Given the description of an element on the screen output the (x, y) to click on. 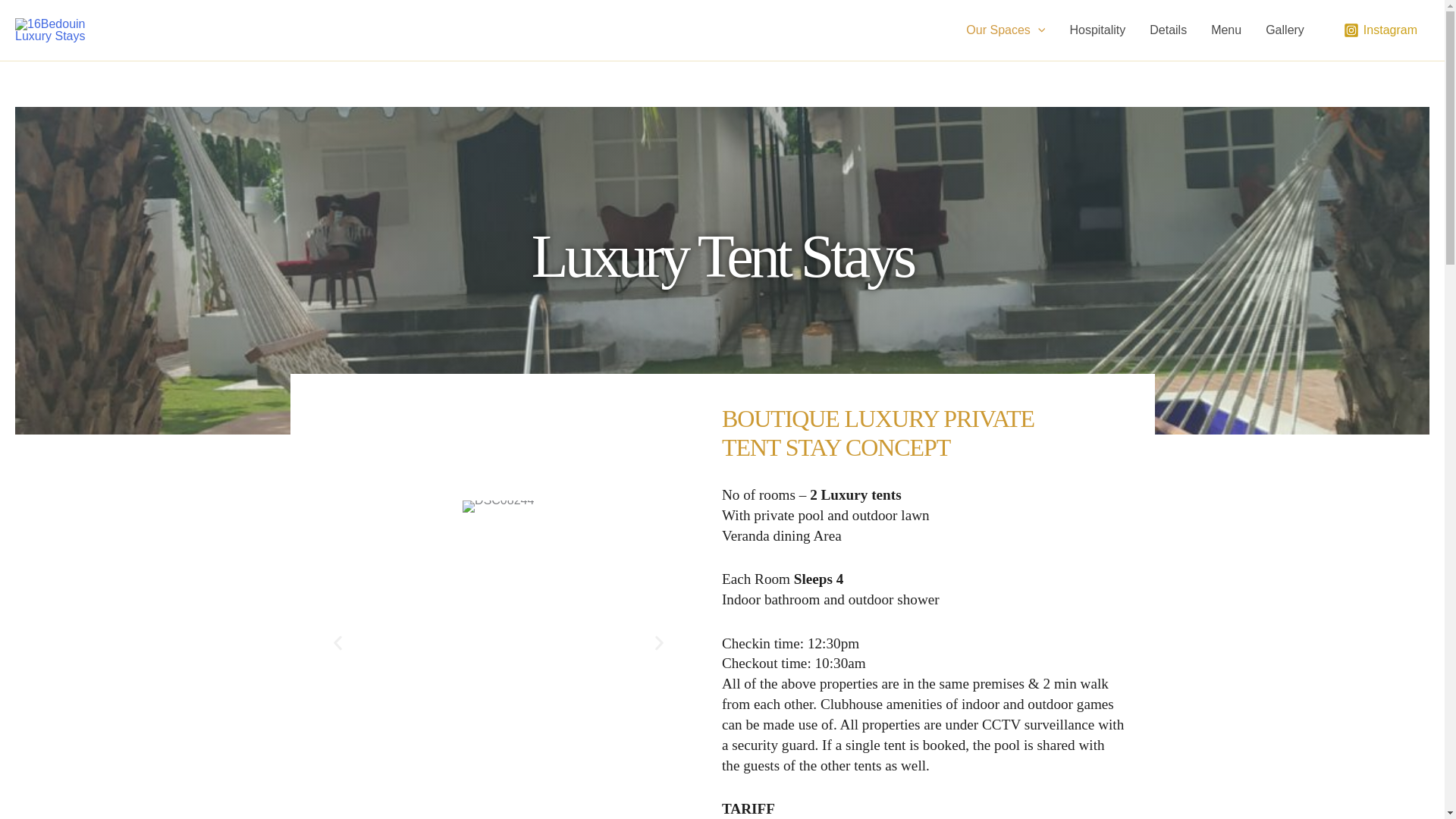
Hospitality (1097, 30)
Details (1167, 30)
Gallery (1284, 30)
Our Spaces (1005, 30)
Instagram (1380, 29)
Menu (1225, 30)
